Given the description of an element on the screen output the (x, y) to click on. 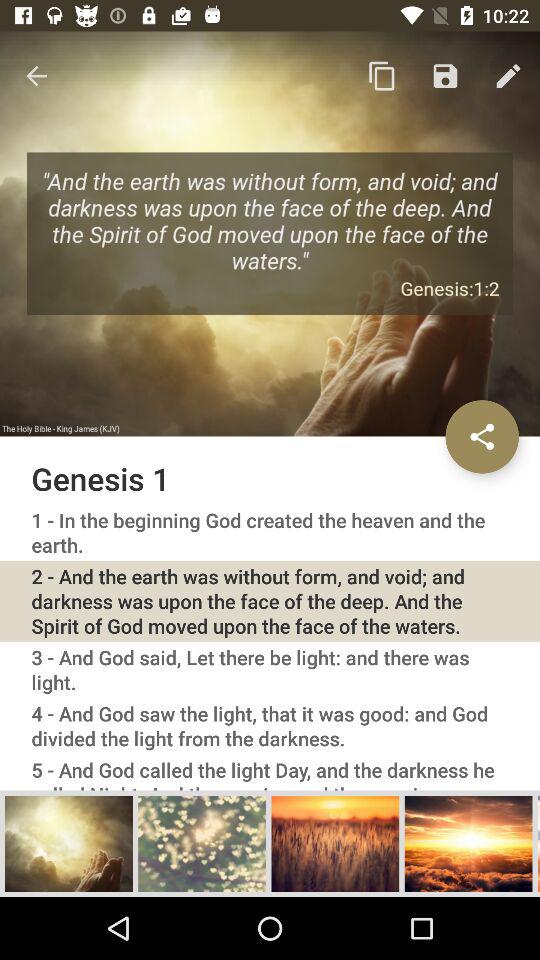
show this verse (69, 843)
